Given the description of an element on the screen output the (x, y) to click on. 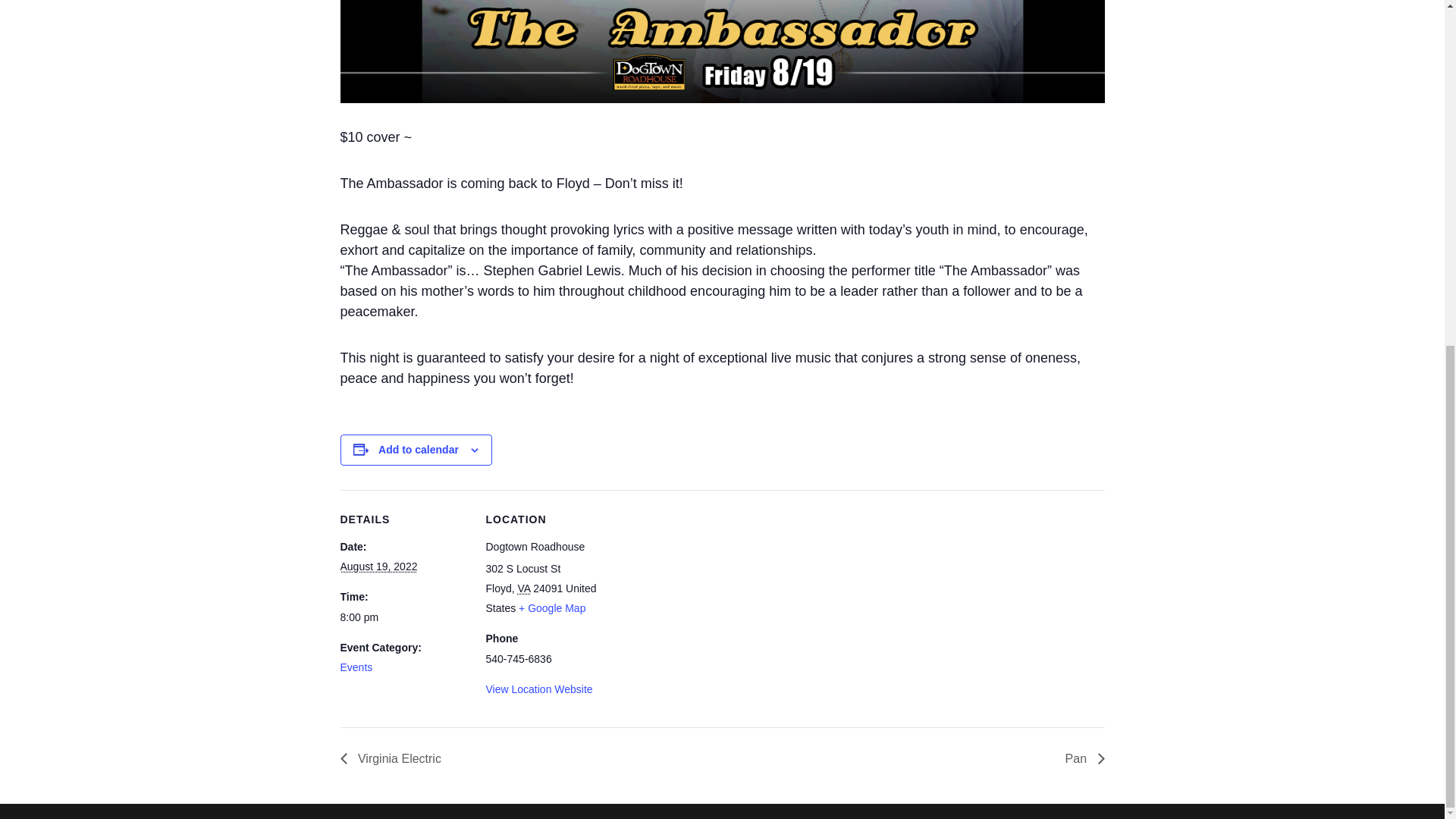
2022-08-19 (377, 566)
Virginia Electric (393, 758)
Add to calendar (418, 449)
View Location Website (538, 689)
Events (355, 666)
Click to view a Google Map (551, 607)
2022-08-19 (403, 618)
Virginia (524, 588)
Pan (1081, 758)
